Given the description of an element on the screen output the (x, y) to click on. 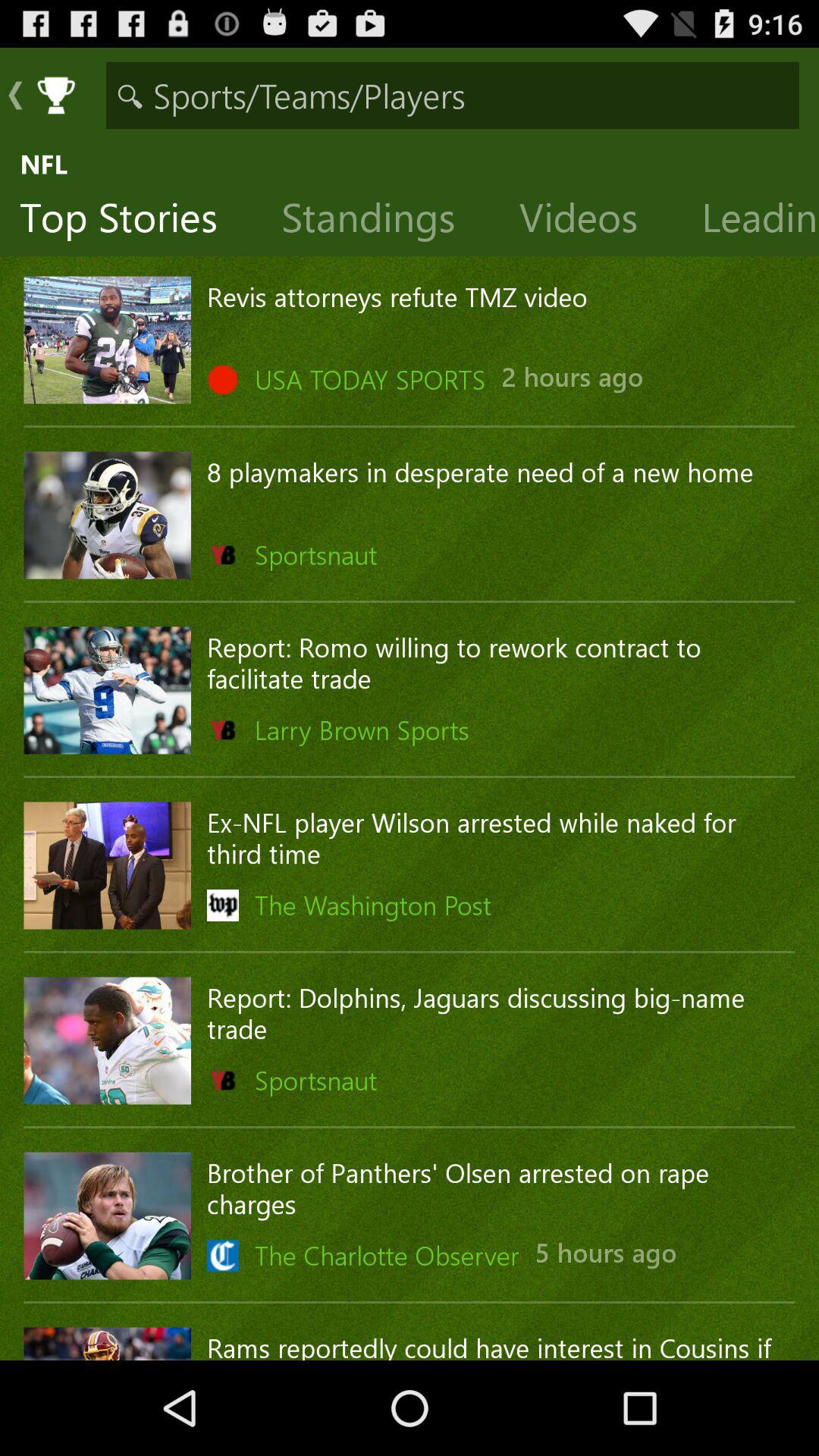
press icon next to the videos item (380, 220)
